Given the description of an element on the screen output the (x, y) to click on. 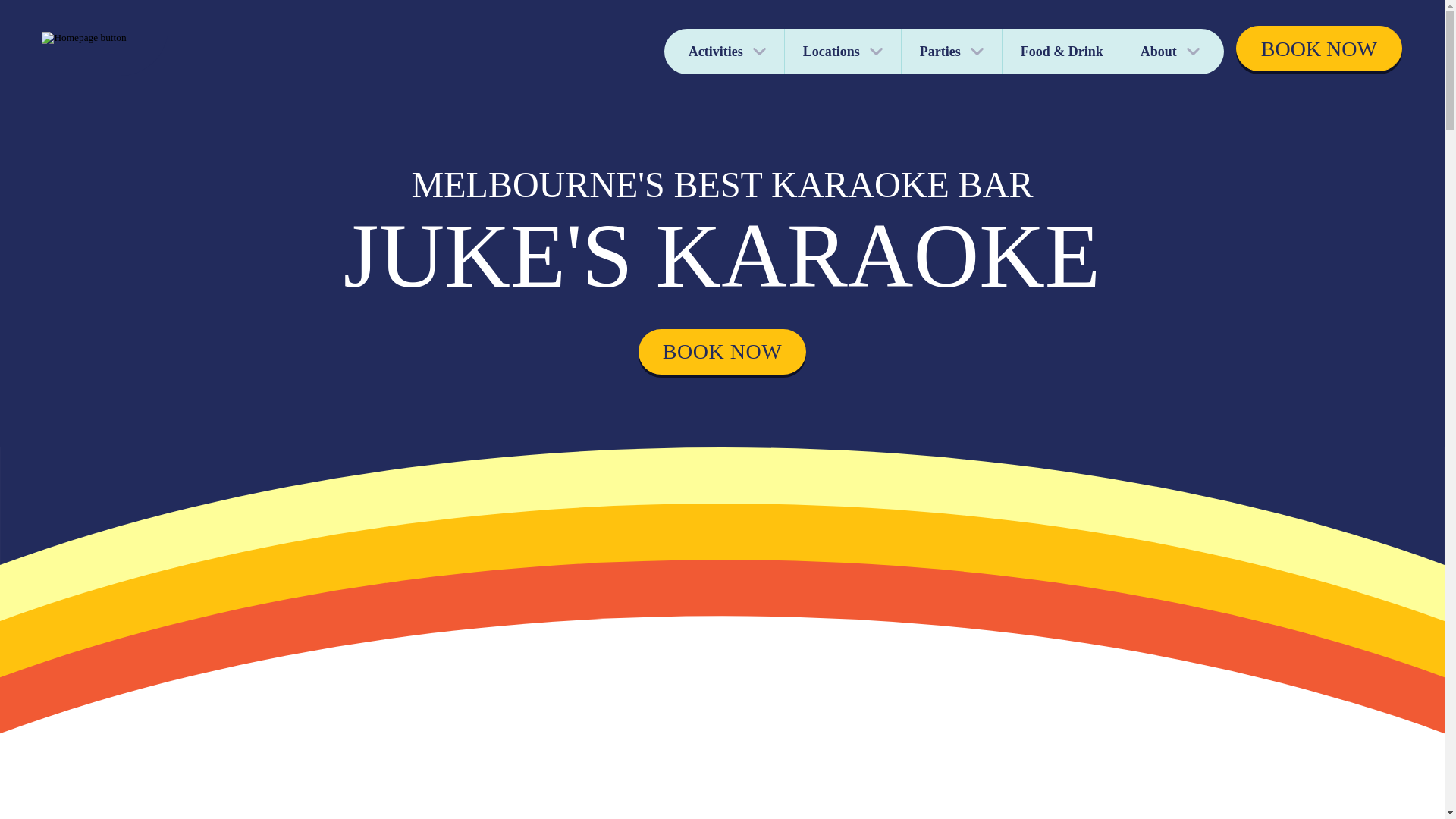
Locations Element type: text (842, 51)
About Element type: text (1172, 51)
Food & Drink Element type: text (1061, 51)
Parties Element type: text (951, 51)
BOOK NOW Element type: text (722, 351)
Activities Element type: text (724, 51)
